Given the description of an element on the screen output the (x, y) to click on. 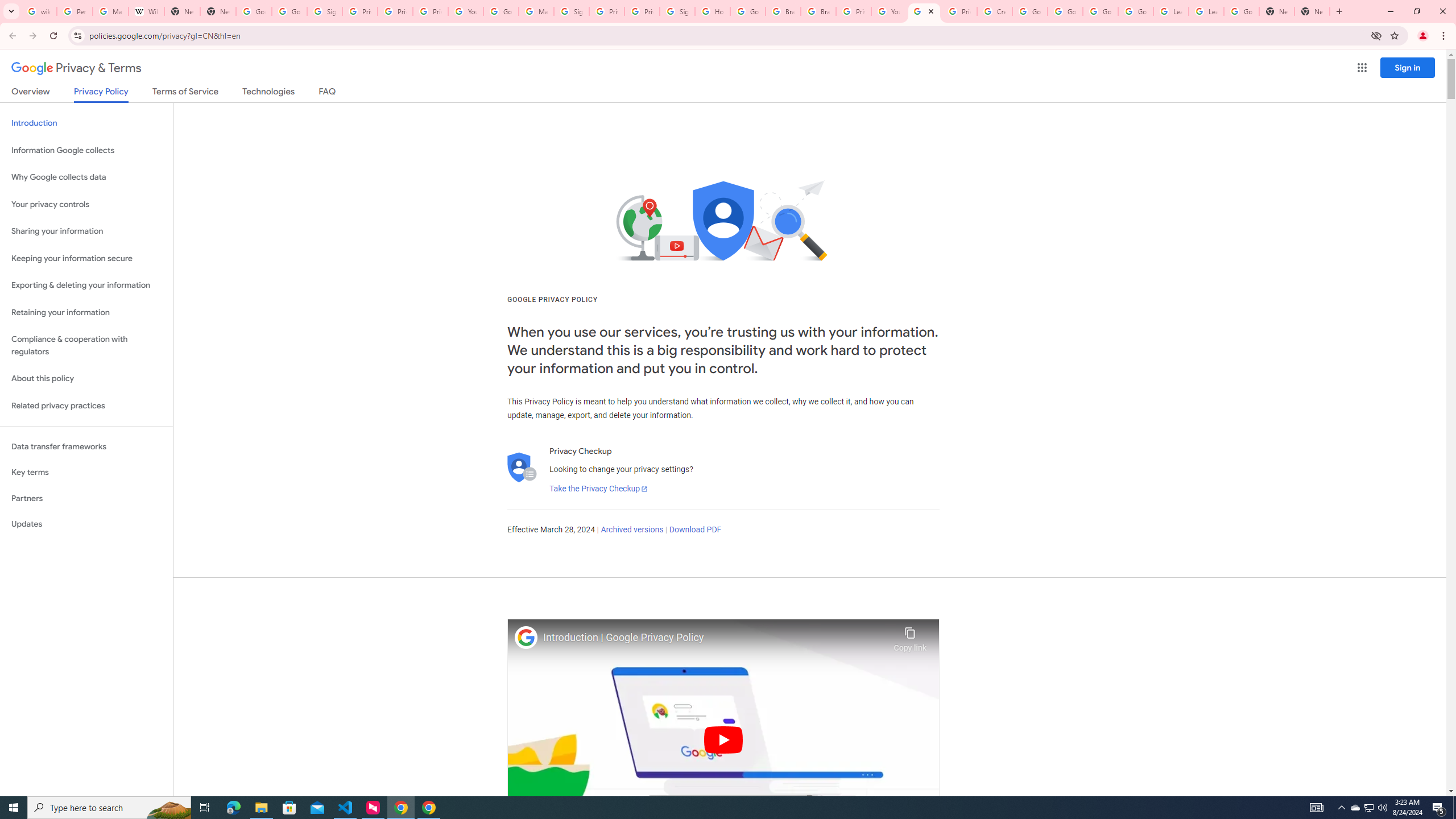
Brand Resource Center (783, 11)
New Tab (218, 11)
Archived versions (631, 529)
Google Account (1240, 11)
Take the Privacy Checkup (597, 488)
YouTube (888, 11)
Retaining your information (86, 312)
Sign in - Google Accounts (677, 11)
Data transfer frameworks (86, 446)
